Given the description of an element on the screen output the (x, y) to click on. 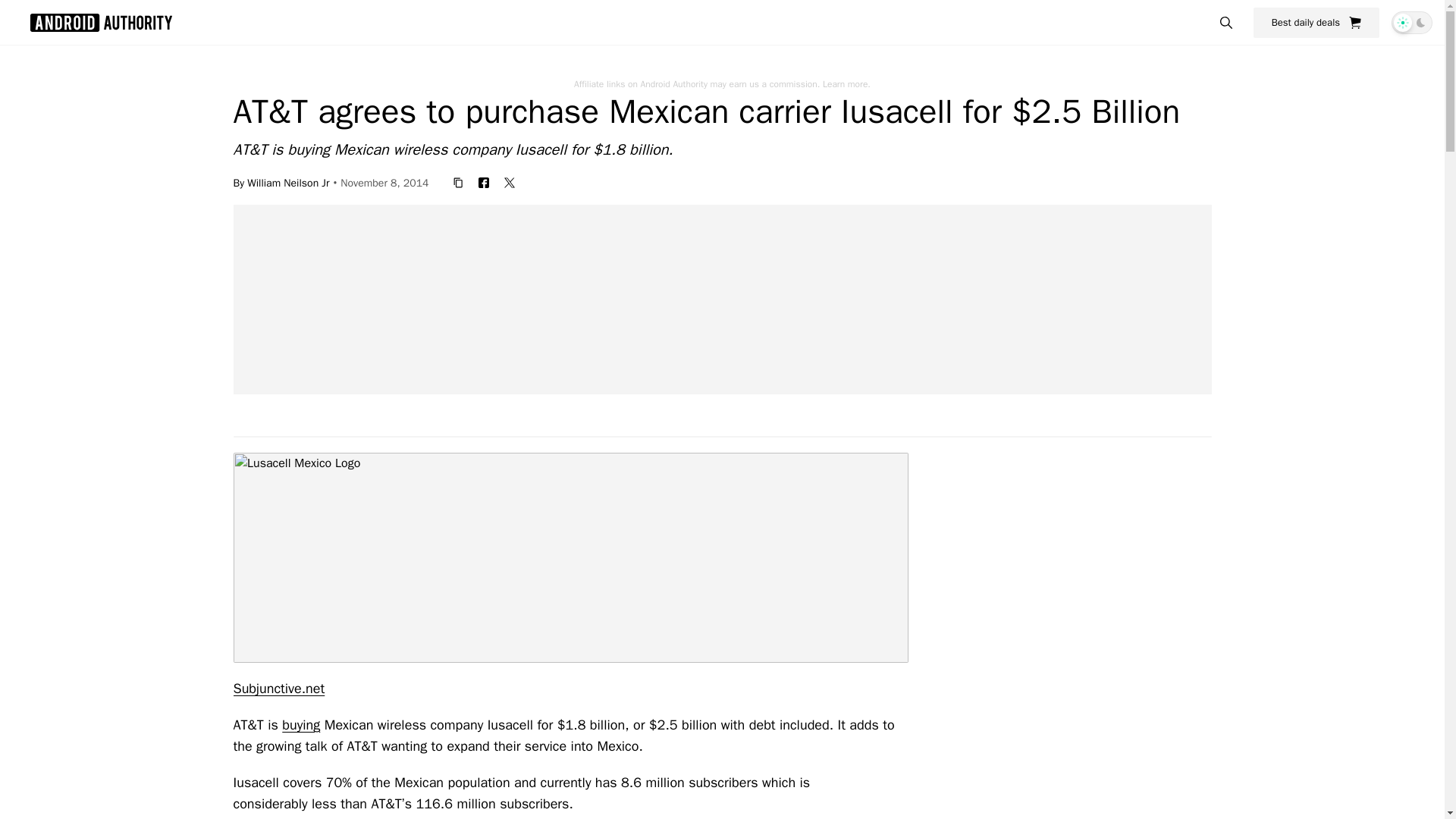
twitter (509, 182)
facebook (483, 182)
William Neilson Jr (288, 182)
Learn more. (846, 83)
buying (301, 724)
Subjunctive.net (278, 688)
Best daily deals (1315, 22)
